Given the description of an element on the screen output the (x, y) to click on. 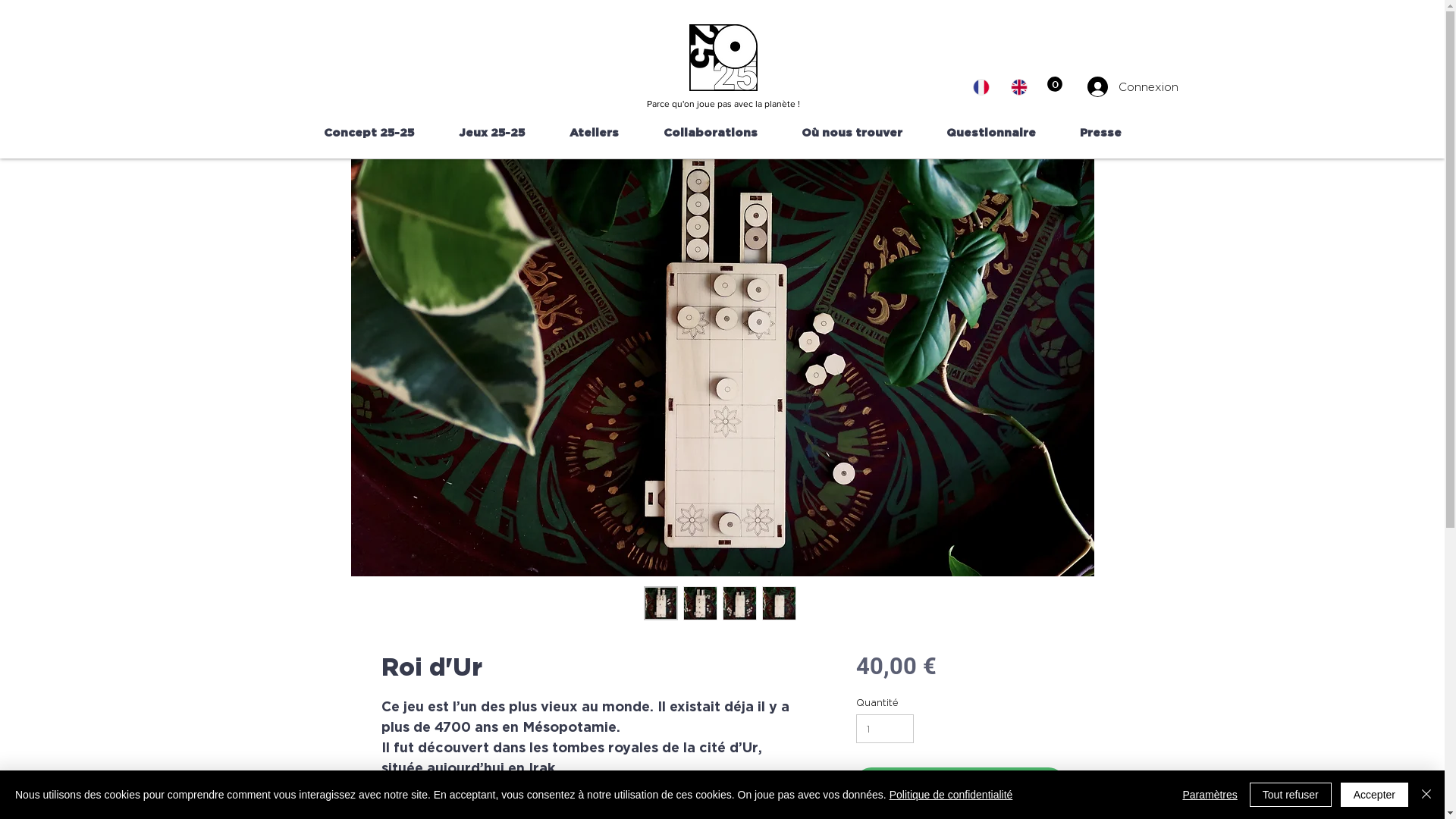
Collaborations Element type: text (710, 132)
Jeux 25-25 Element type: text (491, 132)
0 Element type: text (1053, 83)
Presse Element type: text (1099, 132)
Ateliers Element type: text (594, 132)
Connexion Element type: text (1107, 86)
Ajouter au panier Element type: text (959, 782)
Concept 25-25 Element type: text (368, 132)
Accepter Element type: text (1374, 794)
Questionnaire Element type: text (990, 132)
Tout refuser Element type: text (1290, 794)
